Given the description of an element on the screen output the (x, y) to click on. 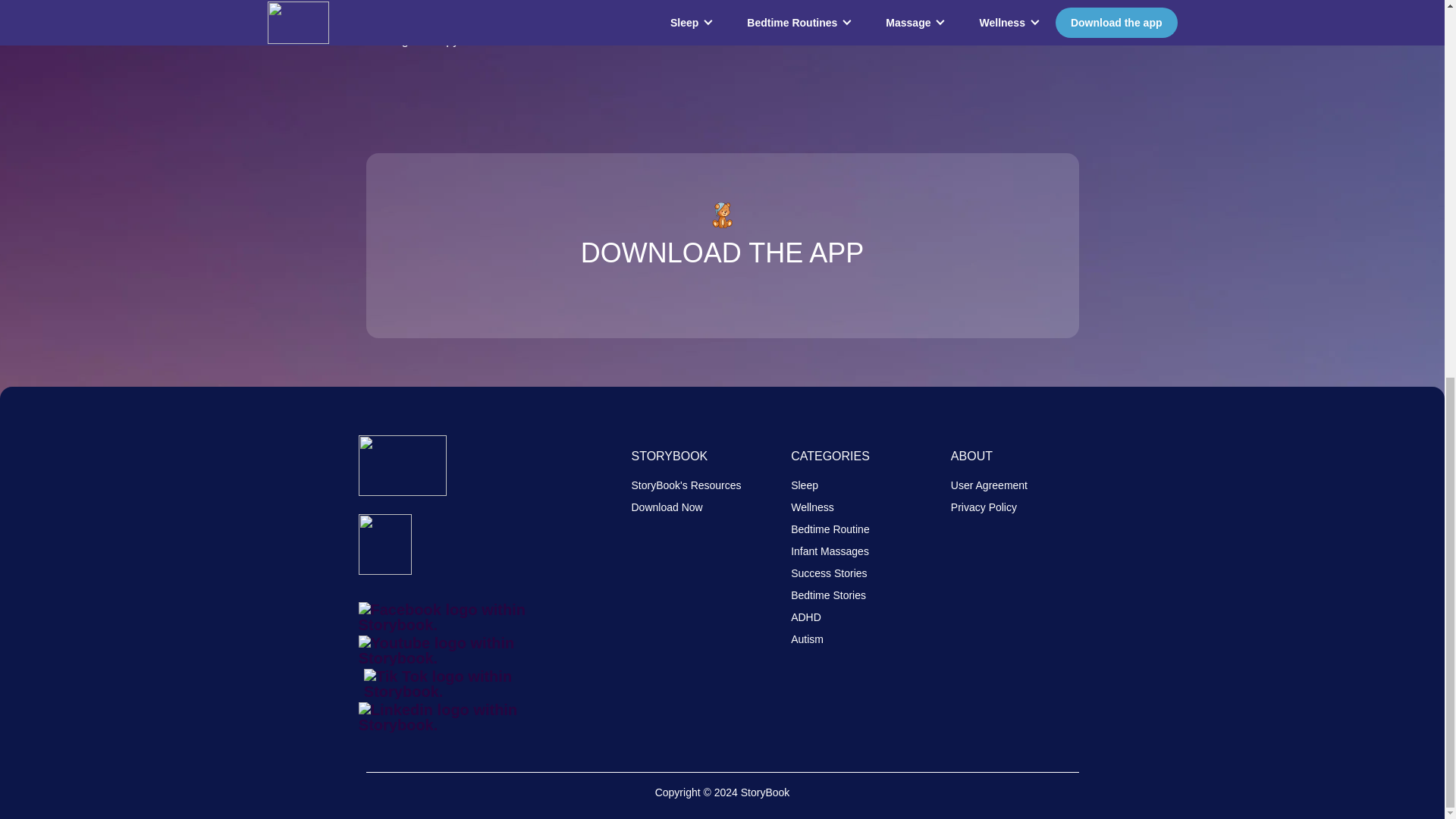
Download Now (665, 507)
StoryBook's Resources (685, 485)
Sleep (804, 485)
Bedtime Routine (829, 529)
Wellness (812, 507)
